Given the description of an element on the screen output the (x, y) to click on. 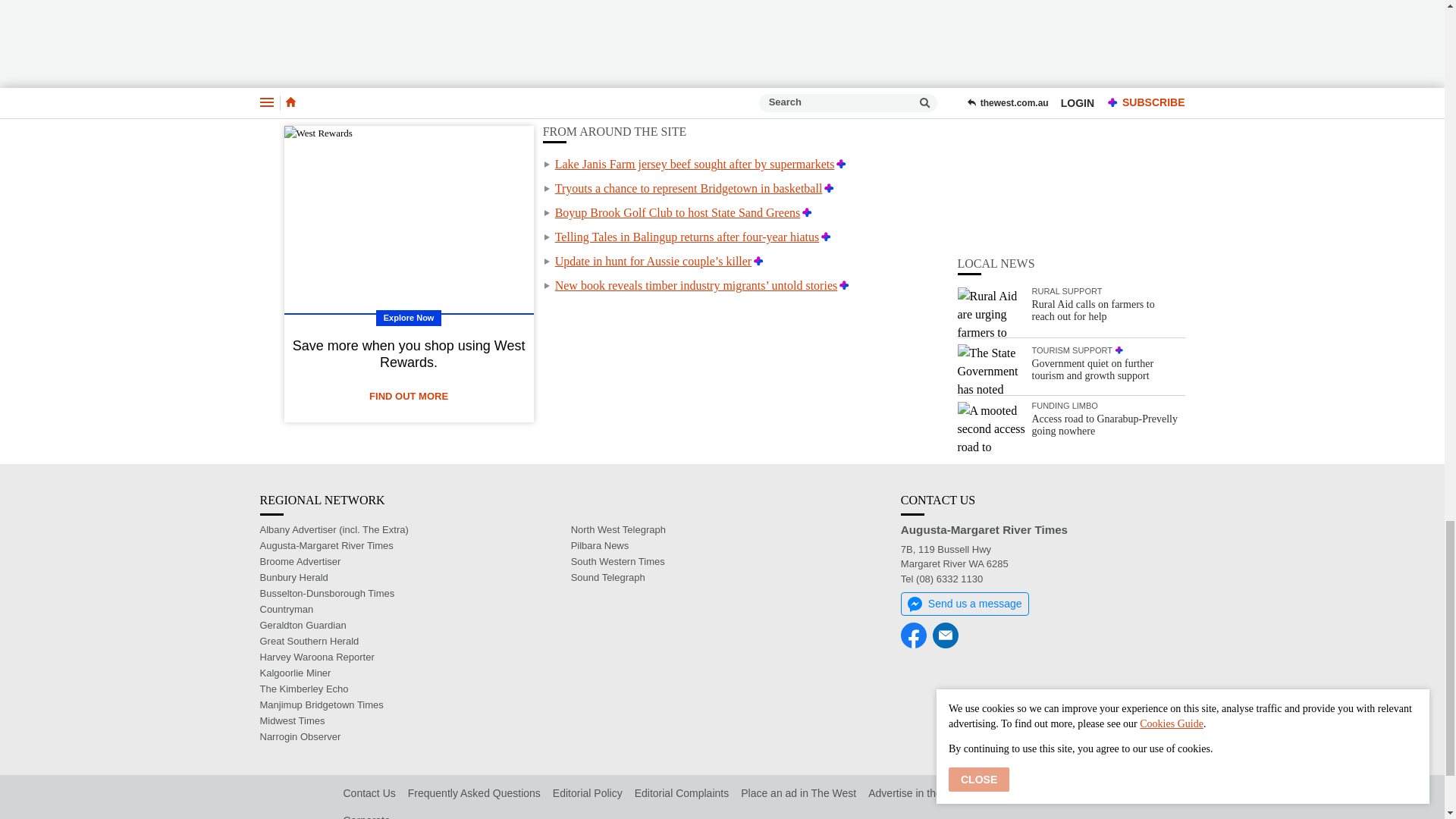
Premium (840, 164)
Premium (828, 187)
